Given the description of an element on the screen output the (x, y) to click on. 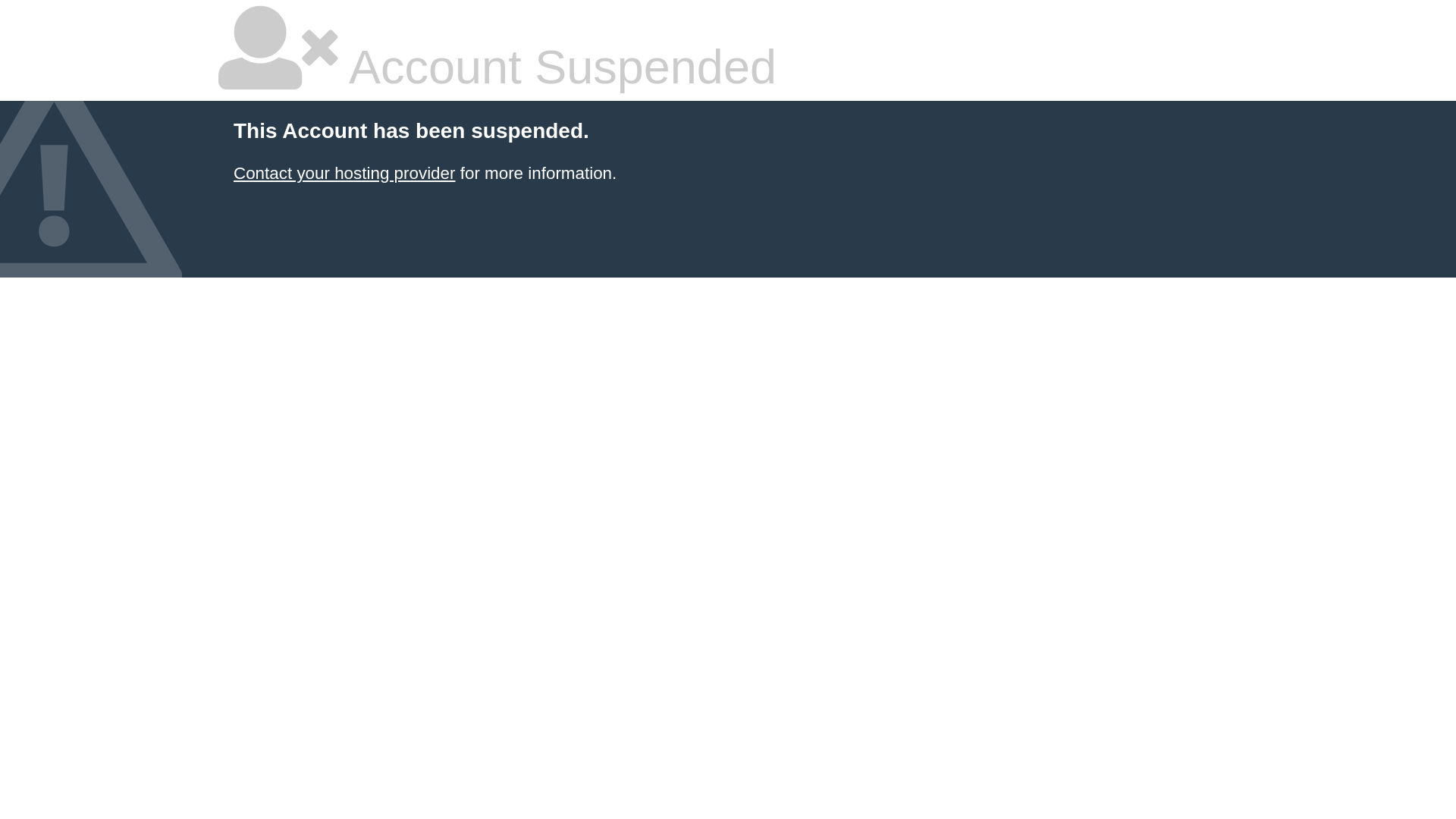
Contact your hosting provider Element type: text (344, 172)
